Given the description of an element on the screen output the (x, y) to click on. 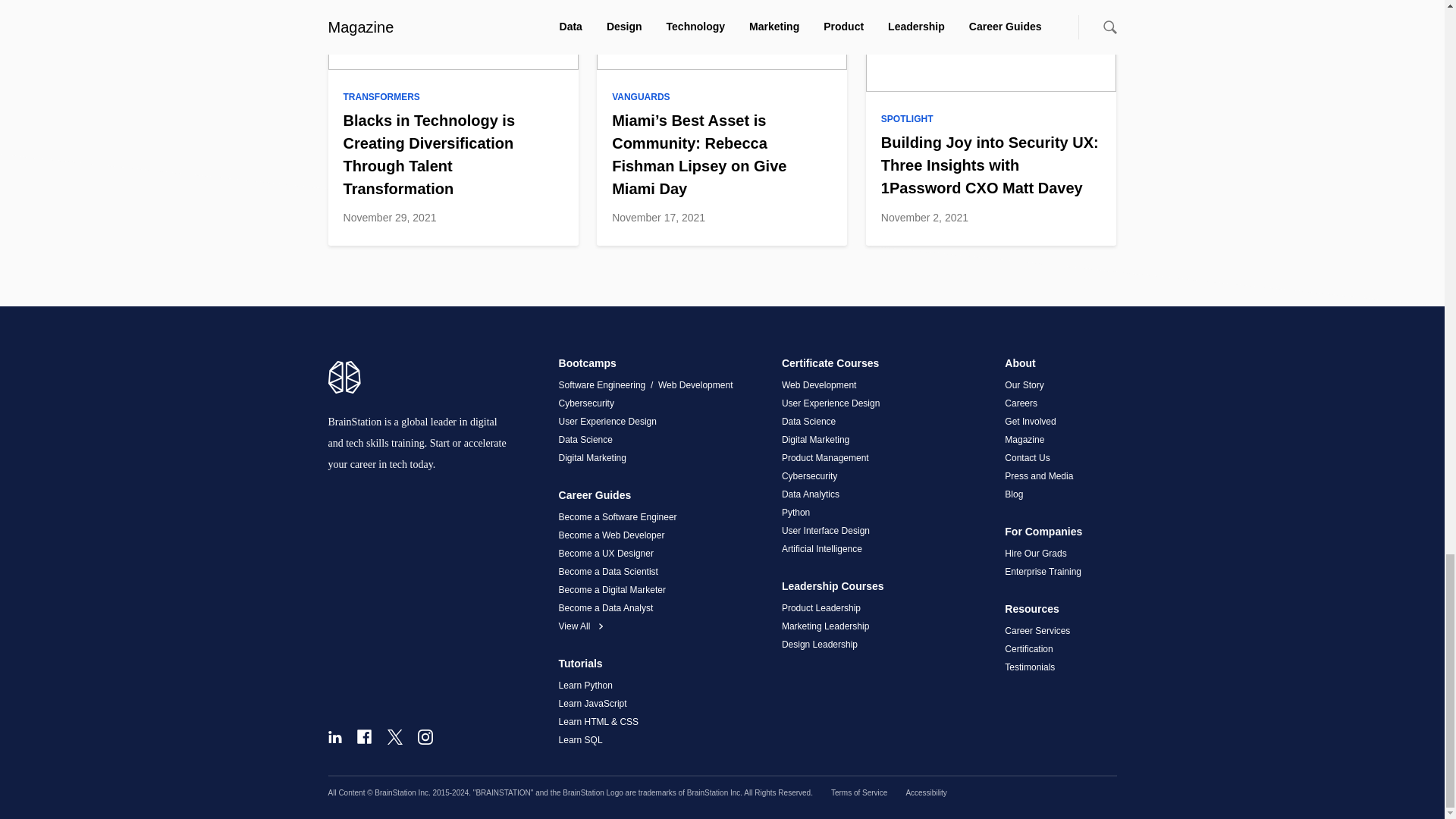
BrainStation Facebook (363, 736)
BrainStation LinkedIn (333, 736)
BrainStation X (394, 736)
BrainStation Instagram (424, 736)
